Given the description of an element on the screen output the (x, y) to click on. 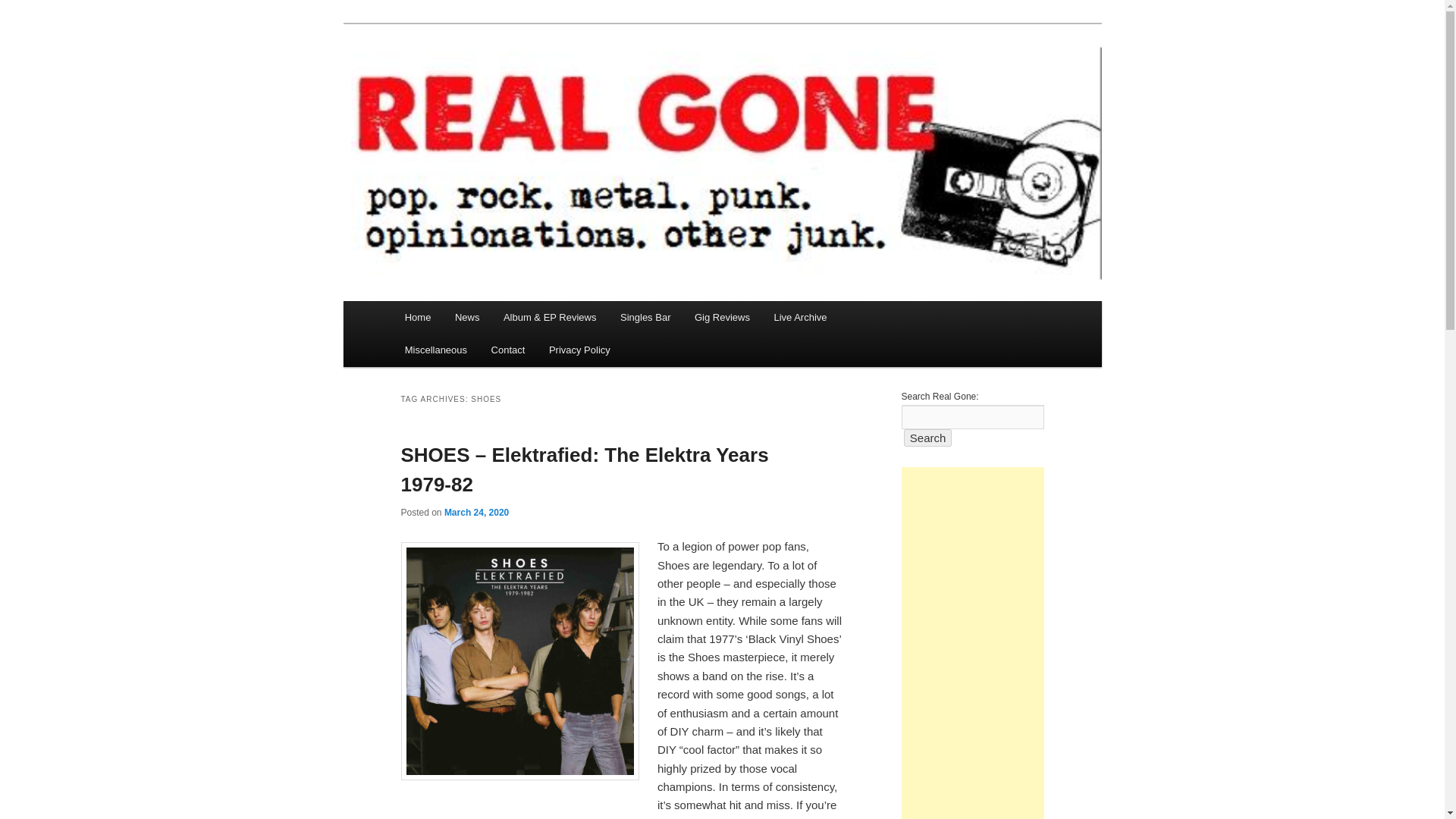
Search (928, 437)
Privacy Policy (579, 349)
2:35 pm (476, 511)
March 24, 2020 (476, 511)
Real Gone (456, 78)
Home (417, 317)
Miscellaneous (436, 349)
Gig Reviews (721, 317)
News (467, 317)
Search (928, 437)
Contact (508, 349)
Singles Bar (645, 317)
Live Archive (800, 317)
